Given the description of an element on the screen output the (x, y) to click on. 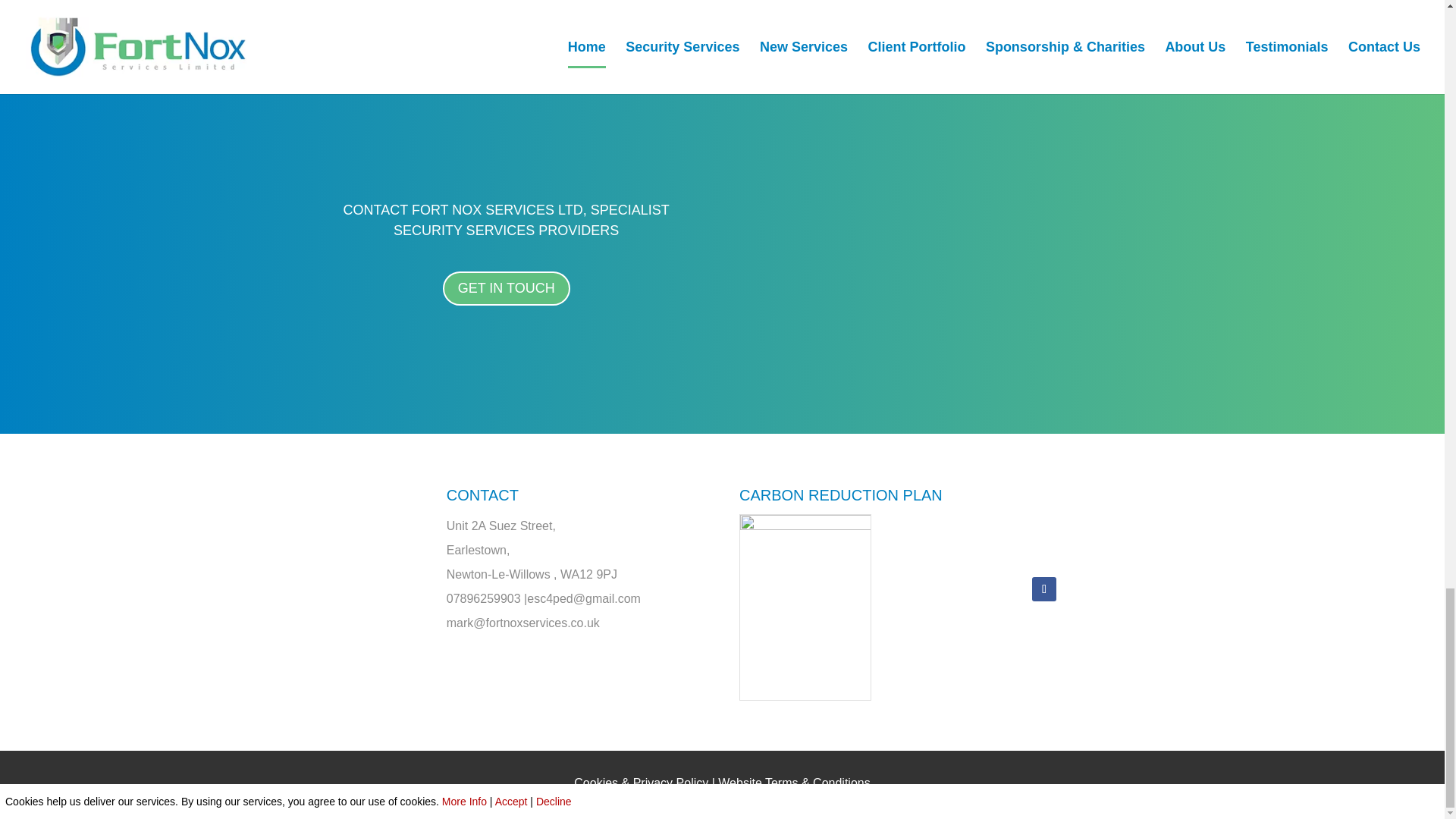
07896259903 (483, 598)
GET IN TOUCH (506, 288)
Follow on Facebook (1044, 589)
